Given the description of an element on the screen output the (x, y) to click on. 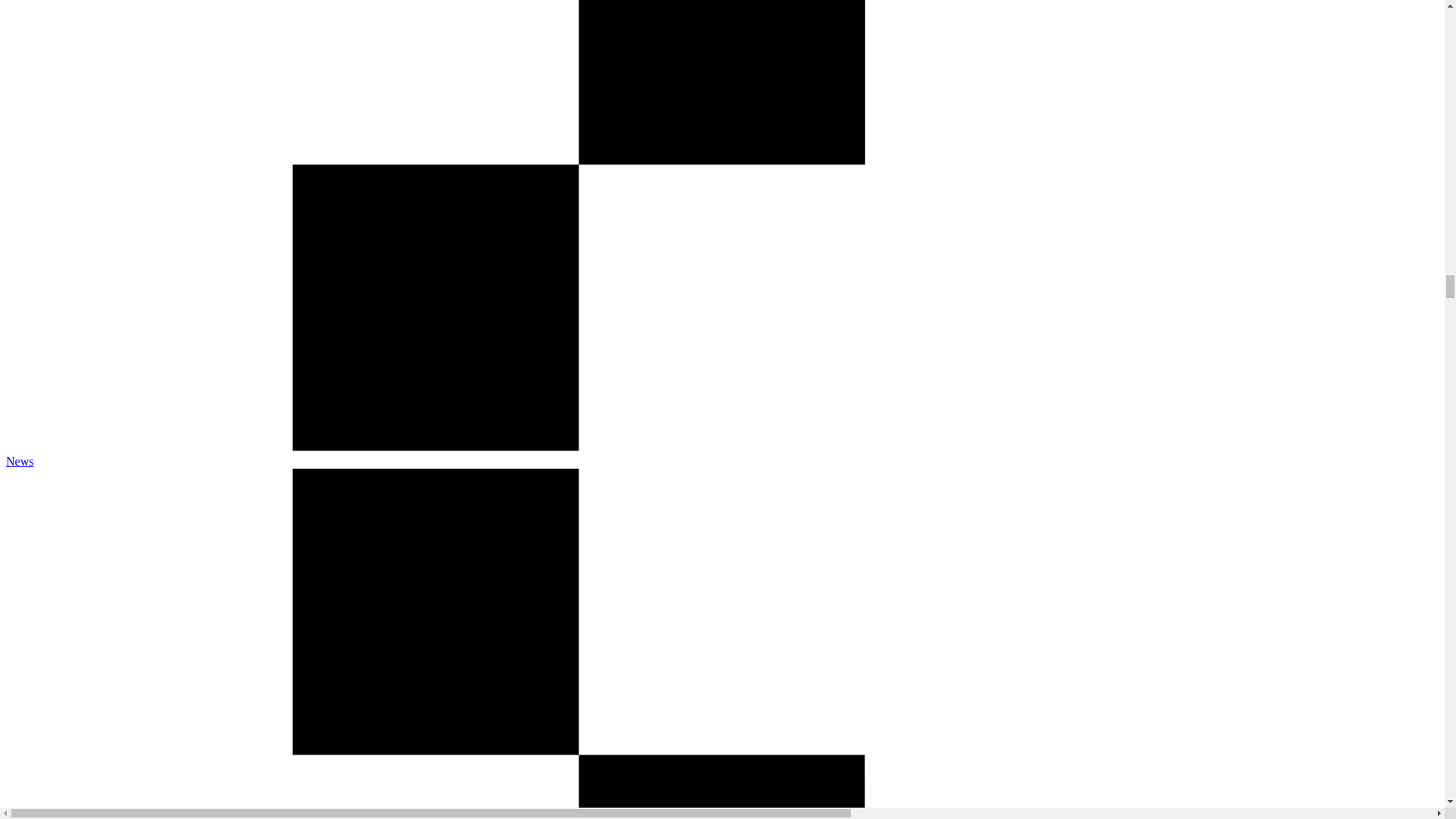
News (19, 461)
